Given the description of an element on the screen output the (x, y) to click on. 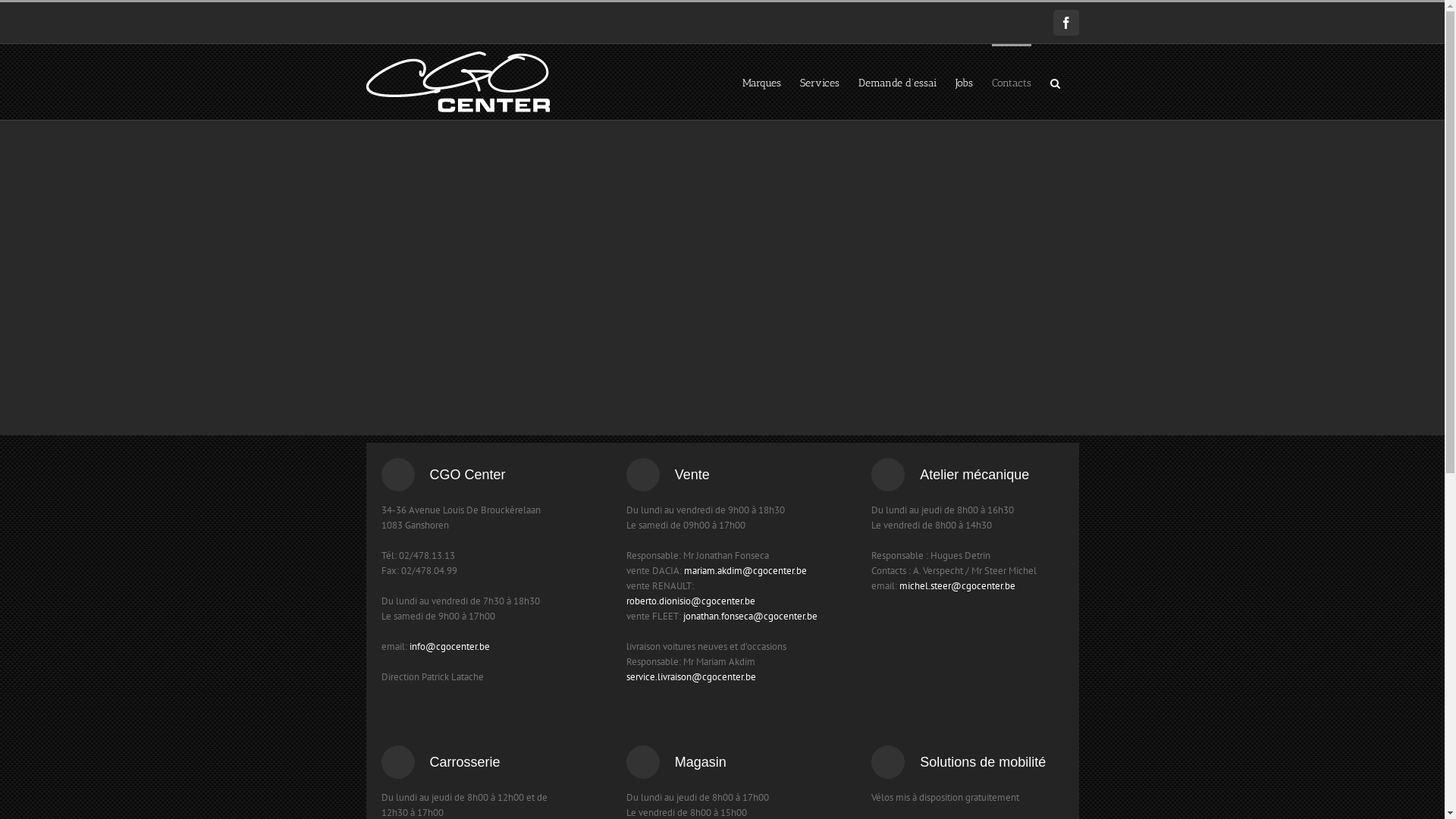
jonathan.fonseca@cgocenter.be Element type: text (750, 615)
Jobs Element type: text (963, 81)
Contacts Element type: text (1011, 81)
Services Element type: text (818, 81)
info@cgocenter.be Element type: text (449, 646)
mariam.akdim@cgocenter.be Element type: text (745, 570)
Search Element type: hover (1054, 81)
roberto.dionisio@cgocenter.be Element type: text (690, 600)
Marques Element type: text (760, 81)
service.livraison@cgocenter.be Element type: text (691, 676)
Facebook Element type: text (1065, 22)
michel.steer@cgocenter.be Element type: text (957, 585)
